Given the description of an element on the screen output the (x, y) to click on. 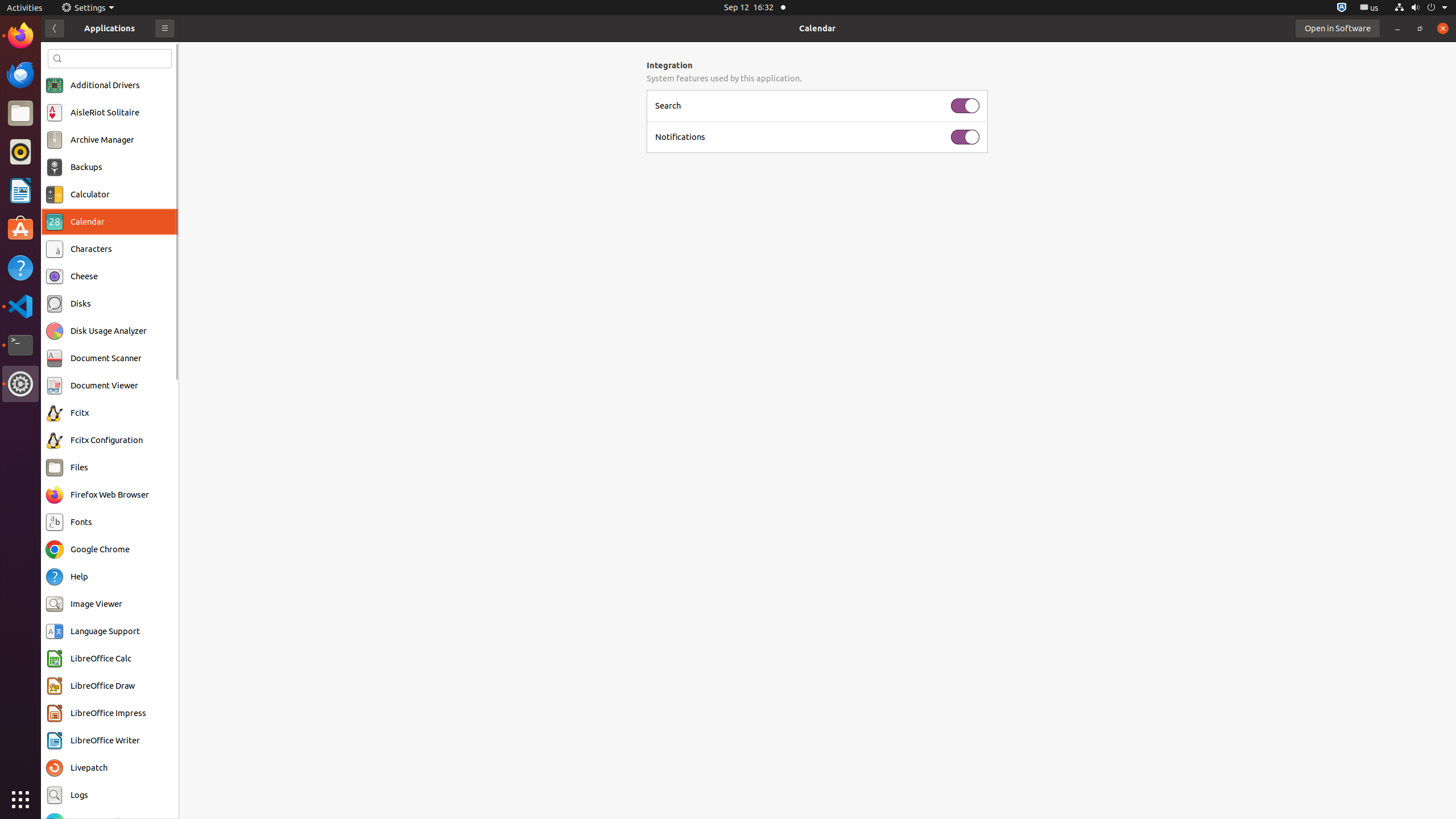
Terminal Element type: push-button (20, 344)
Fcitx Configuration Element type: label (106, 440)
Restore Element type: push-button (1419, 27)
